Given the description of an element on the screen output the (x, y) to click on. 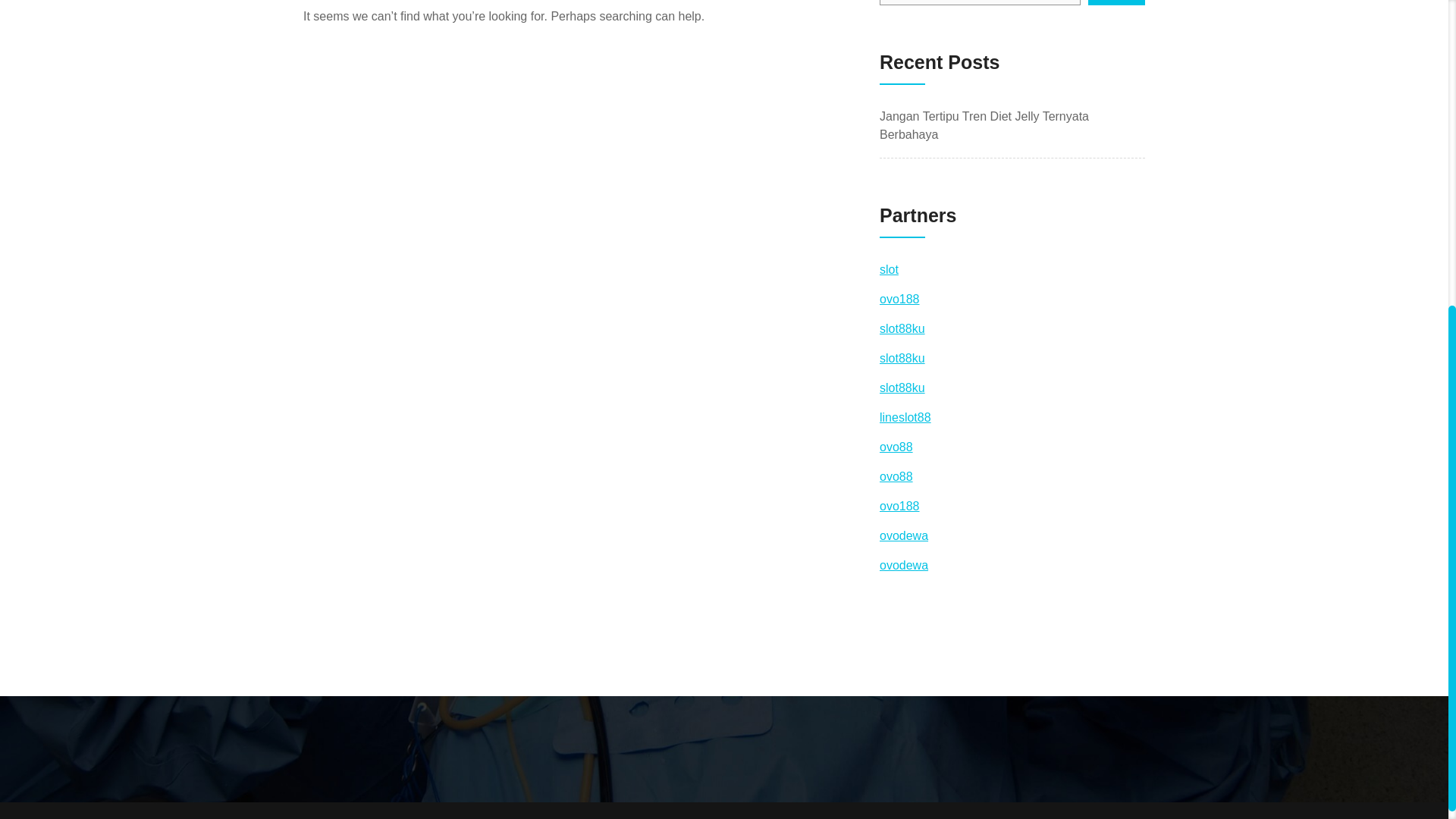
ovo188 (899, 505)
slot88ku (901, 358)
lineslot88 (905, 417)
ovo188 (899, 298)
Jangan Tertipu Tren Diet Jelly Ternyata Berbahaya (984, 124)
Search (1115, 2)
ovodewa (903, 564)
slot88ku (901, 387)
ovo88 (895, 446)
ovo88 (895, 476)
